Given the description of an element on the screen output the (x, y) to click on. 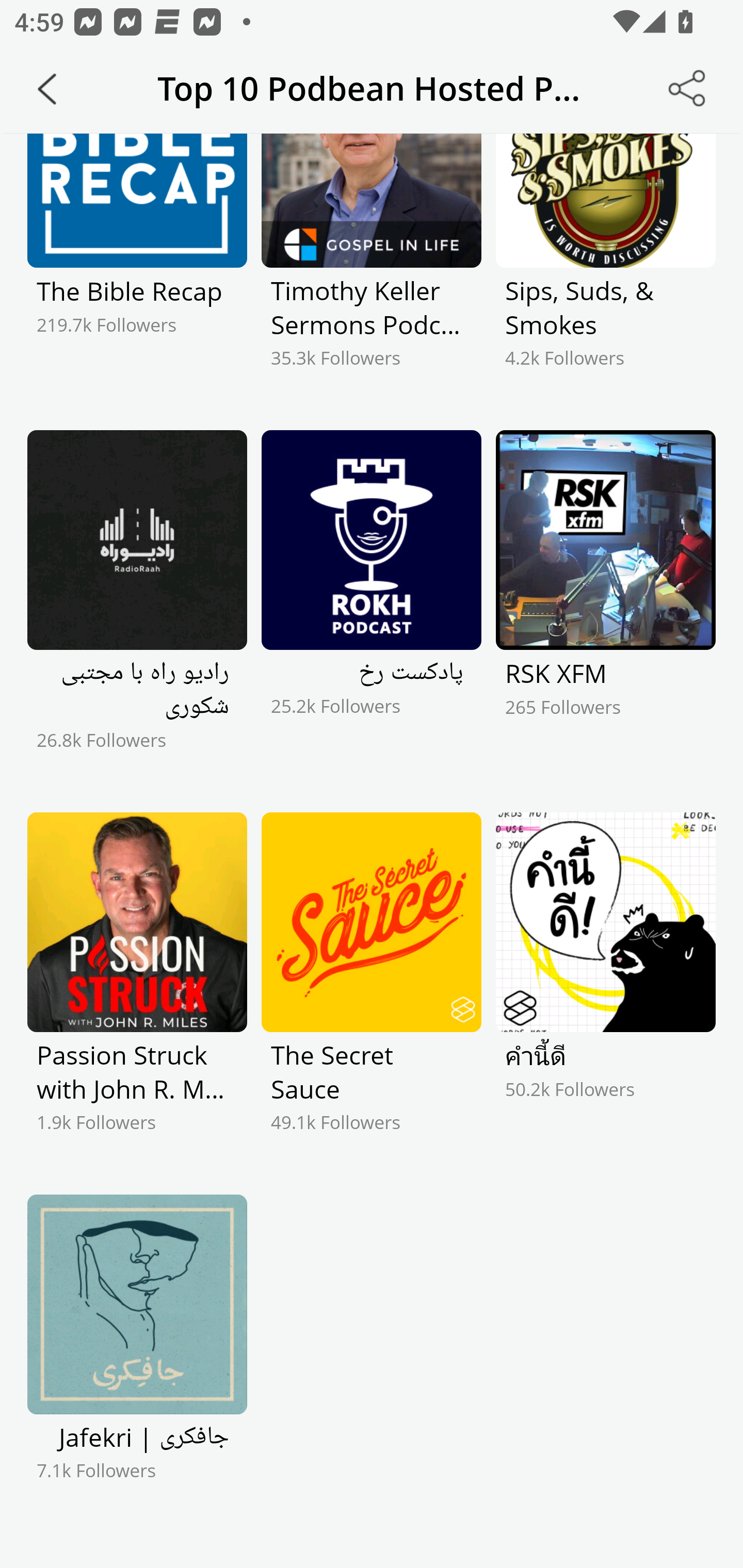
Back (46, 88)
The Bible Recap 219.7k Followers (137, 267)
Sips, Suds, & Smokes 4.2k Followers (605, 267)
رادیو راه با مجتبی شکوری 26.8k Followers (137, 607)
پادکست رخ 25.2k Followers (371, 607)
RSK XFM 265 Followers (605, 607)
Passion Struck with John R. Miles 1.9k Followers (137, 990)
The Secret Sauce 49.1k Followers (371, 990)
คำนี้ดี 50.2k Followers (605, 990)
جافکری | Jafekri 7.1k Followers (137, 1371)
